Given the description of an element on the screen output the (x, y) to click on. 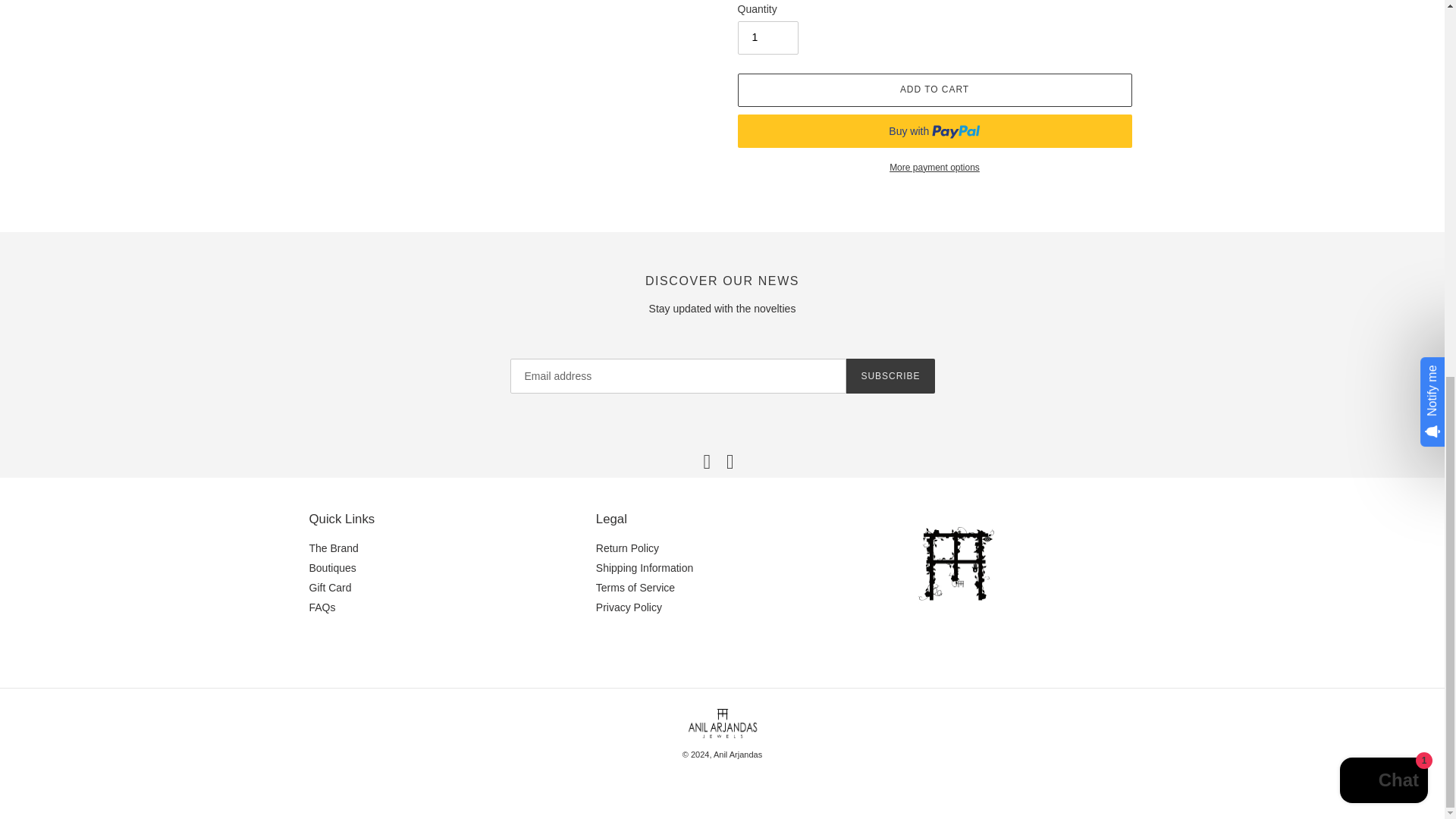
Anil Arjandas (737, 754)
Return Policy (627, 548)
Terms of Service (635, 587)
Shopify online store chat (1383, 88)
More payment options (933, 167)
ADD TO CART (933, 90)
Shipping Information (644, 567)
FAQs (322, 607)
The Brand (333, 548)
1 (766, 37)
Privacy Policy (628, 607)
Boutiques (332, 567)
Gift Card (330, 587)
SUBSCRIBE (889, 375)
